Given the description of an element on the screen output the (x, y) to click on. 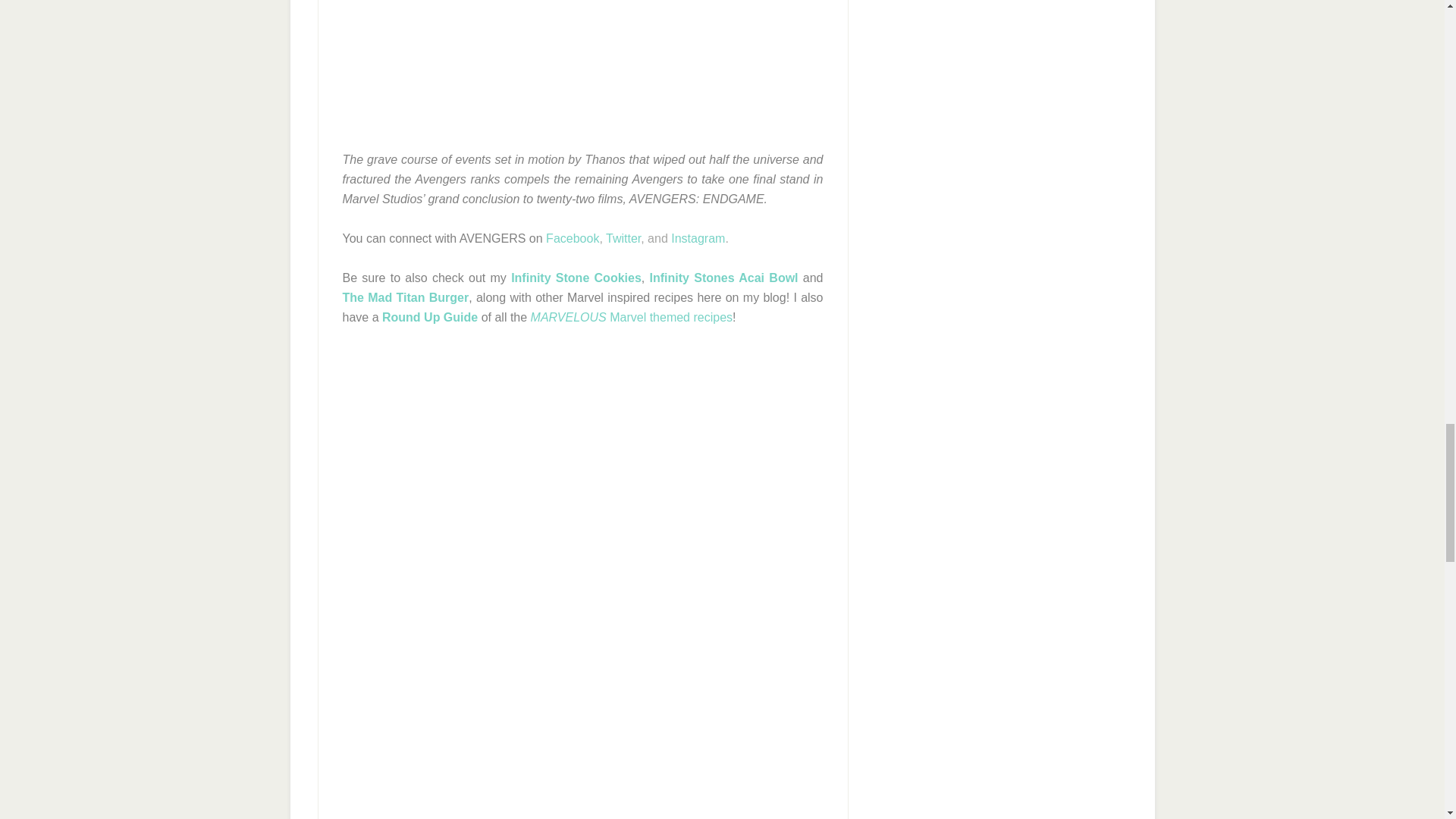
Round Up Guide (429, 317)
Facebook (572, 237)
MARVELOUS Marvel themed recipes (631, 317)
Infinity Stones Acai Bowl (723, 277)
Infinity Stone Cookies (576, 277)
Instagram (698, 237)
The Mad Titan Burger (405, 297)
Twitter (622, 237)
